Given the description of an element on the screen output the (x, y) to click on. 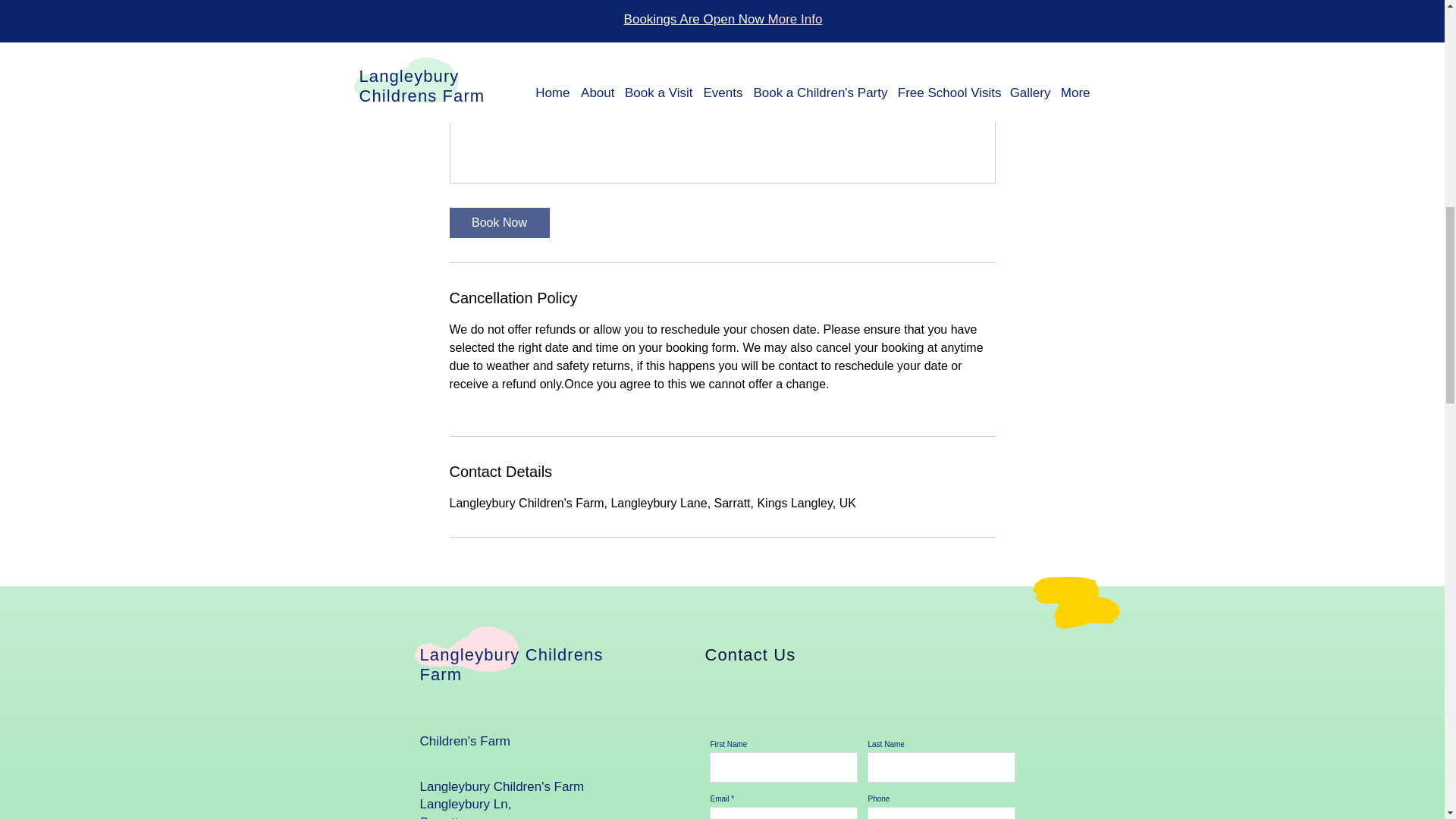
Book Now (498, 223)
Langleybury Childrens (512, 654)
Contact Us (750, 654)
